Given the description of an element on the screen output the (x, y) to click on. 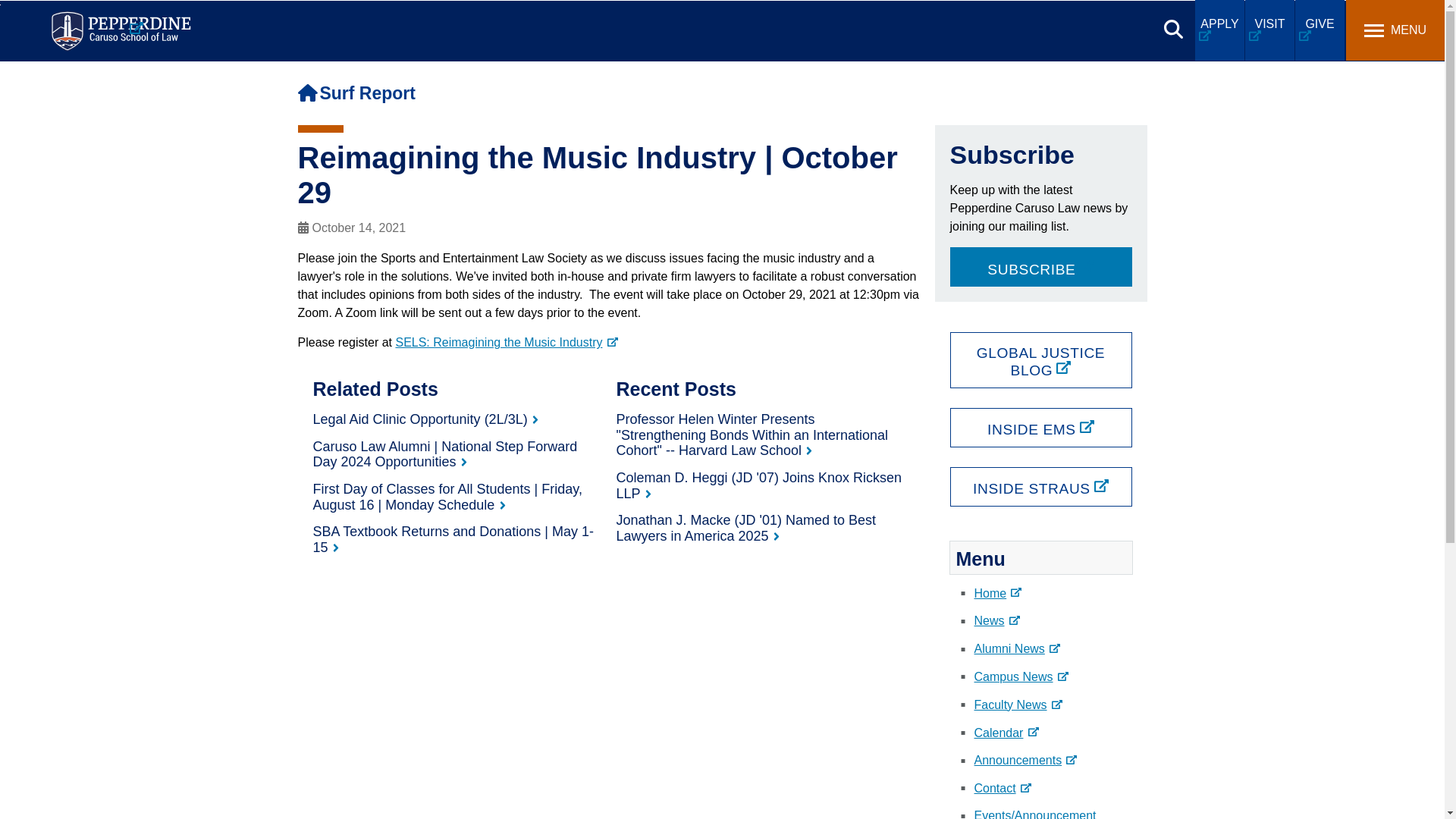
Submit (457, 19)
Link to External Site (505, 341)
open search (1173, 28)
home (307, 92)
